Given the description of an element on the screen output the (x, y) to click on. 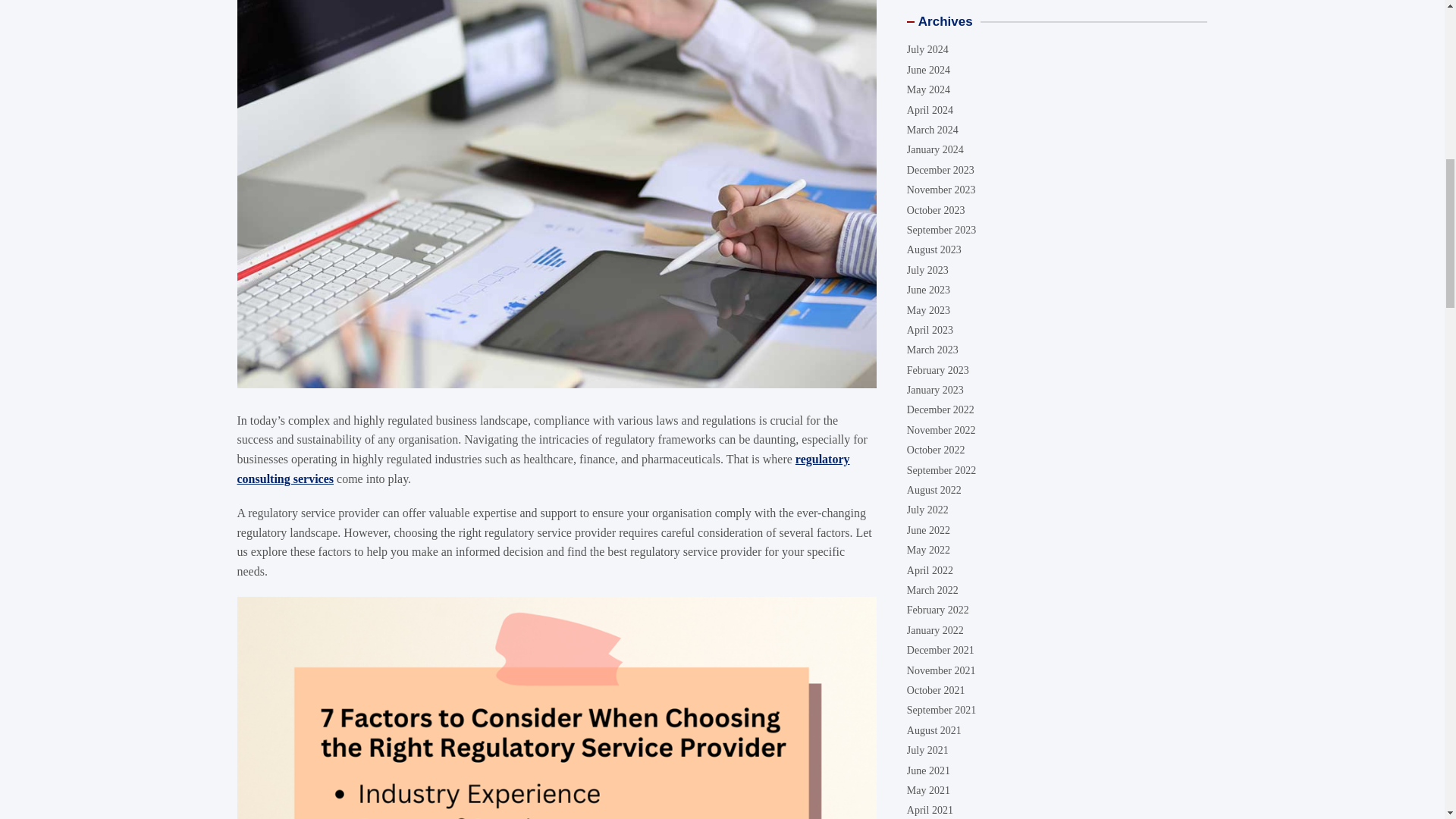
March 2024 (932, 129)
January 2024 (935, 150)
October 2023 (936, 210)
September 2023 (941, 229)
April 2023 (930, 329)
December 2023 (940, 170)
July 2023 (928, 270)
May 2024 (928, 89)
regulatory consulting services (541, 468)
July 2024 (928, 50)
